Given the description of an element on the screen output the (x, y) to click on. 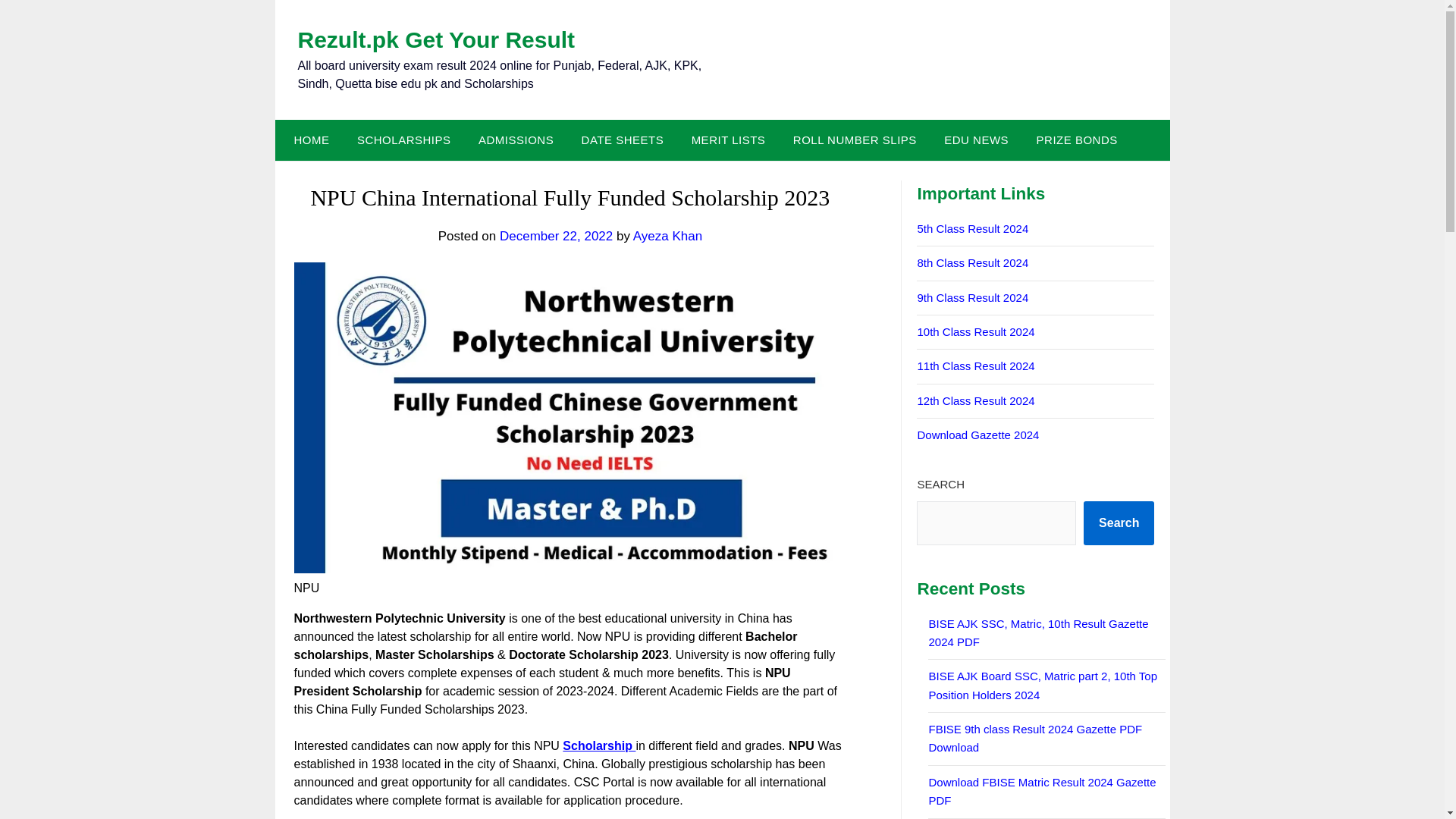
11th Class Result 2024 (975, 365)
Rezult.pk Get Your Result (436, 39)
December 22, 2022 (555, 236)
Download Gazette 2024 (978, 434)
10th Class Result 2024 (975, 331)
ROLL NUMBER SLIPS (854, 139)
5th Class Result 2024 (972, 228)
8th Class Result 2024 (972, 262)
FBISE 9th class Result 2024 Gazette PDF Download (1034, 737)
ADMISSIONS (515, 139)
BISE AJK SSC, Matric, 10th Result Gazette 2024 PDF (1038, 632)
Inter, HSSC part 1, 1st Year Result 2024 (975, 365)
Matric, SSC part 1 Result 2024 (972, 297)
MERIT LISTS (728, 139)
